Given the description of an element on the screen output the (x, y) to click on. 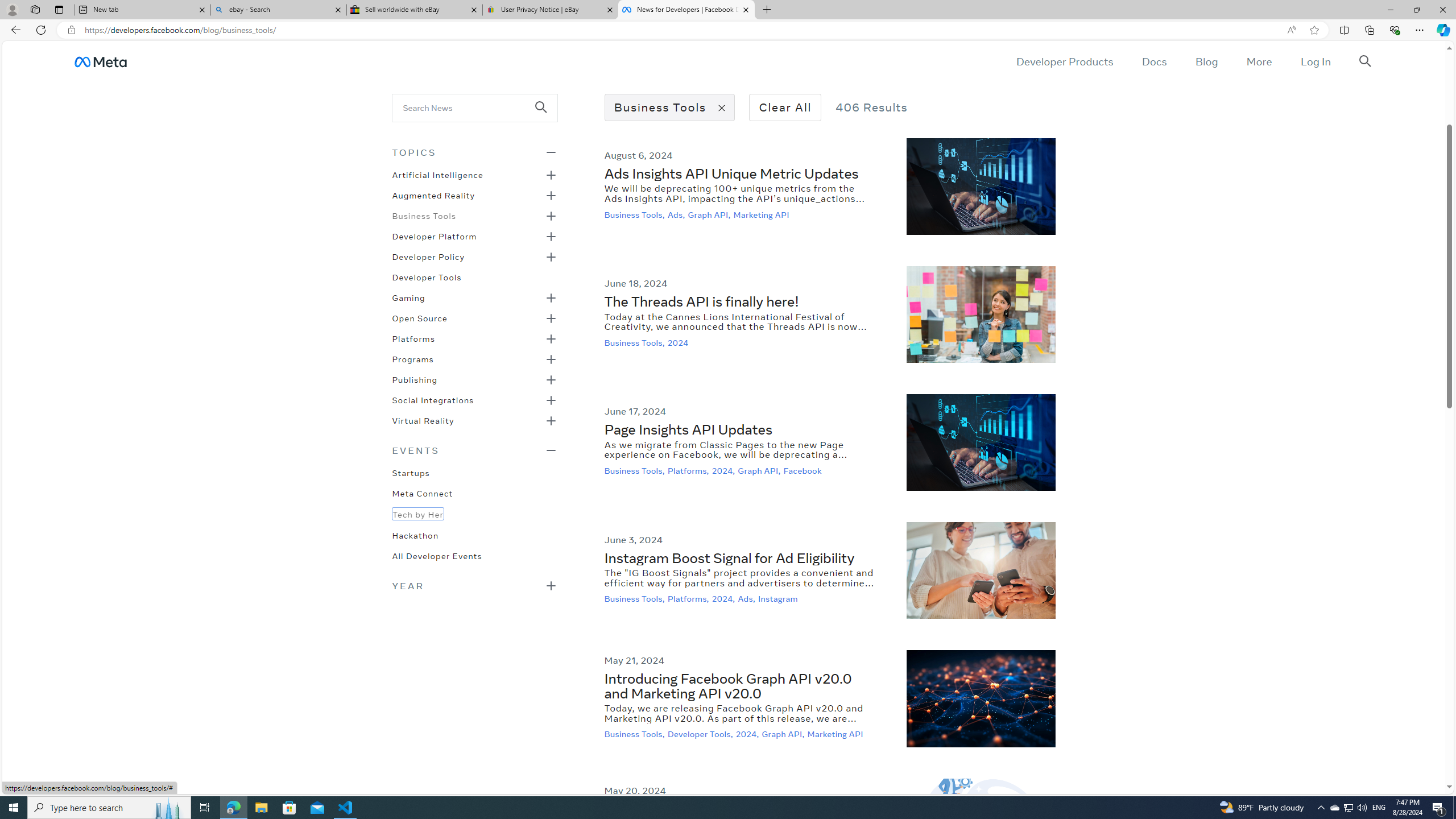
More (1259, 61)
Platforms (413, 337)
Open Source (418, 317)
Sell worldwide with eBay (414, 9)
Programs (412, 358)
Developer Products (1064, 61)
Augmented Reality (433, 194)
User Privacy Notice | eBay (550, 9)
Business Tools, (636, 733)
Tech by Her (417, 513)
Gaming (408, 296)
